Given the description of an element on the screen output the (x, y) to click on. 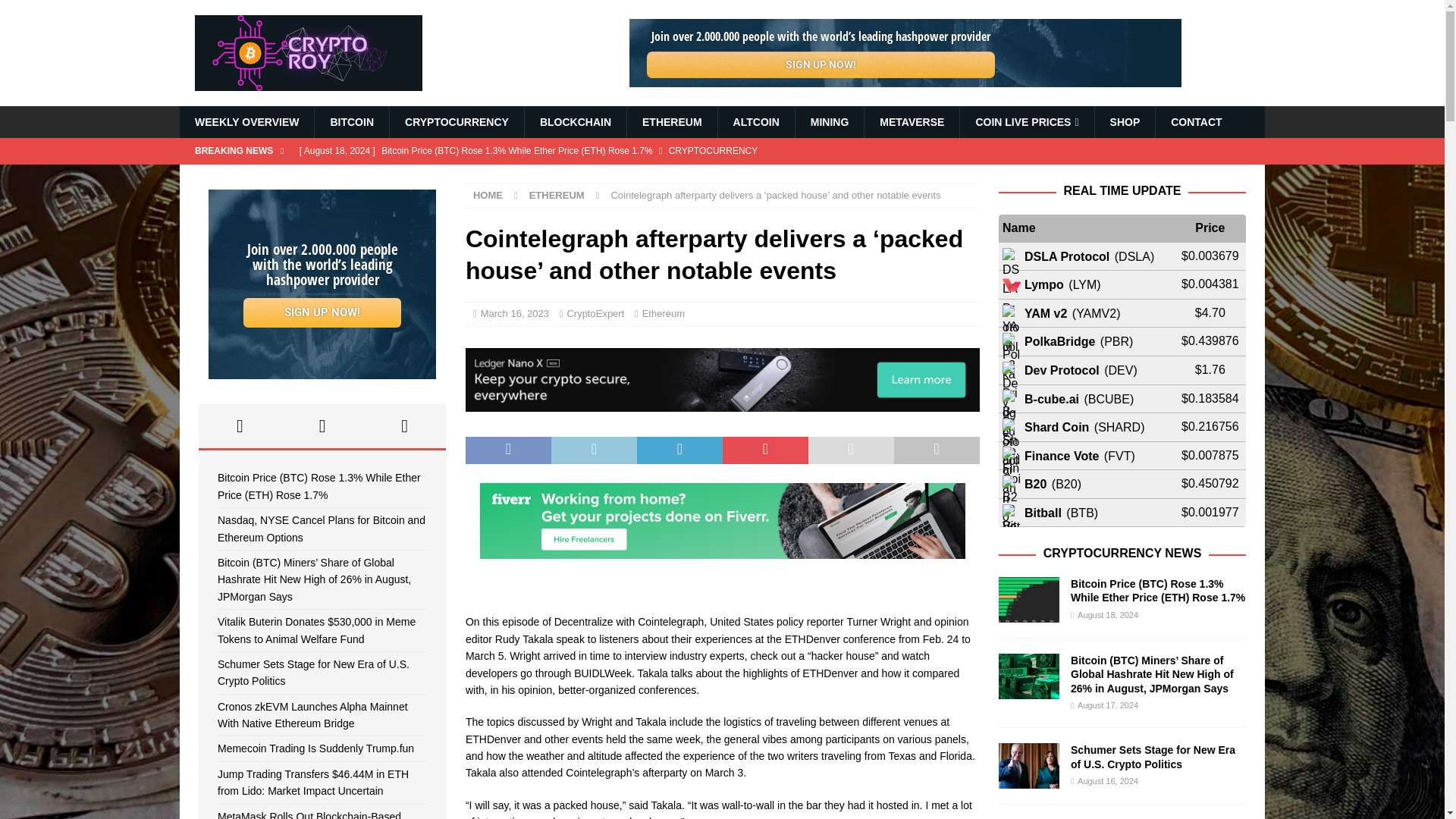
Ethereum (663, 313)
ALTCOIN (755, 122)
CryptoExpert (595, 313)
ETHEREUM (557, 194)
BLOCKCHAIN (575, 122)
CONTACT (1195, 122)
CRYPTOCURRENCY (456, 122)
SHOP (1125, 122)
BITCOIN (351, 122)
MINING (829, 122)
